Given the description of an element on the screen output the (x, y) to click on. 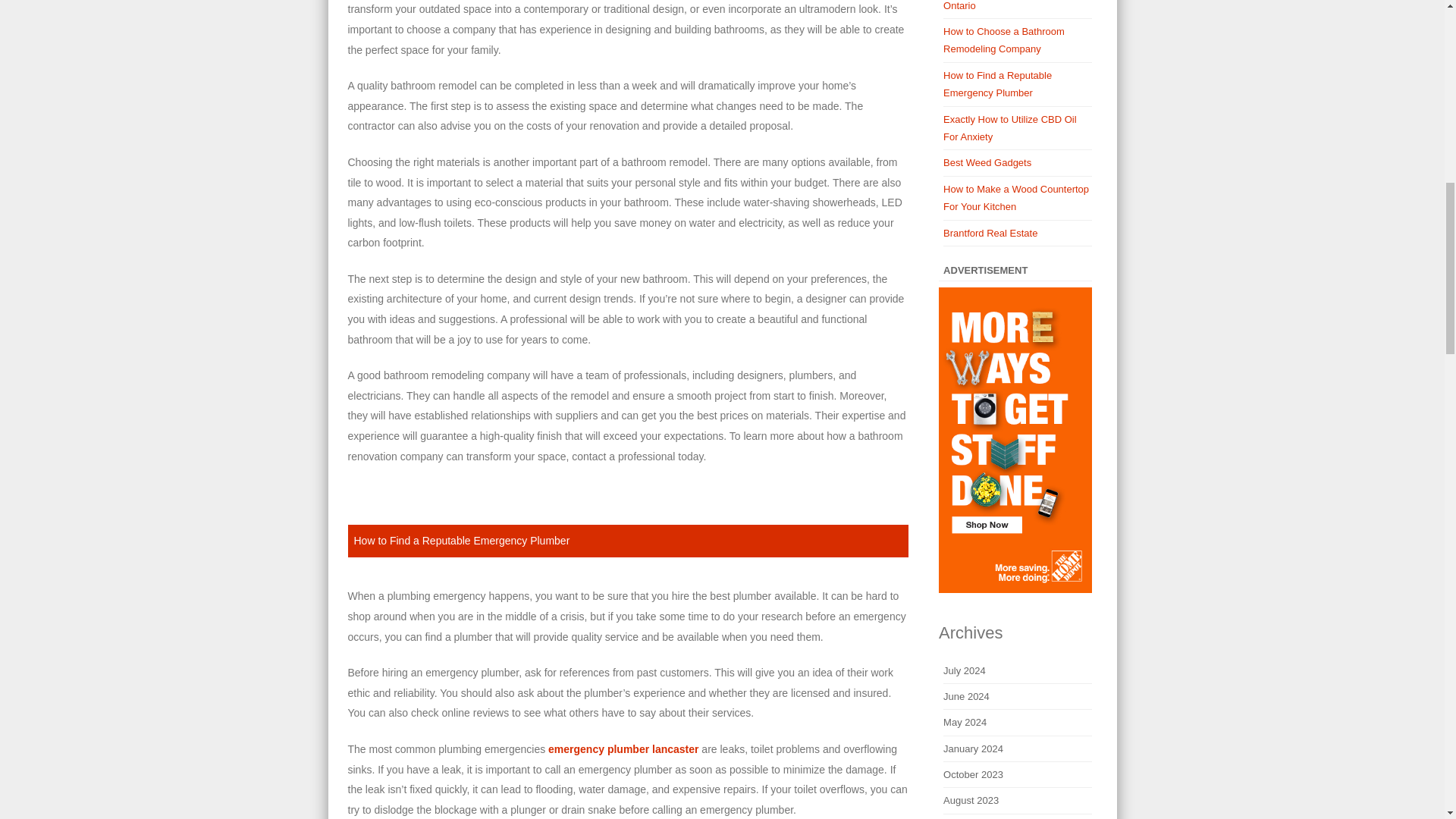
Permalink to How to Find a Reputable Emergency Plumber (461, 540)
How to Make a Wood Countertop For Your Kitchen (1016, 197)
How to Book a Furniture Assembly Service in London Ontario (1005, 5)
emergency plumber lancaster (623, 748)
Exactly How to Utilize CBD Oil For Anxiety (1010, 127)
How to Choose a Bathroom Remodeling Company (1003, 39)
How to Find a Reputable Emergency Plumber (997, 83)
Brantford Real Estate (989, 233)
Best Weed Gadgets (986, 162)
How to Find a Reputable Emergency Plumber (461, 540)
